Given the description of an element on the screen output the (x, y) to click on. 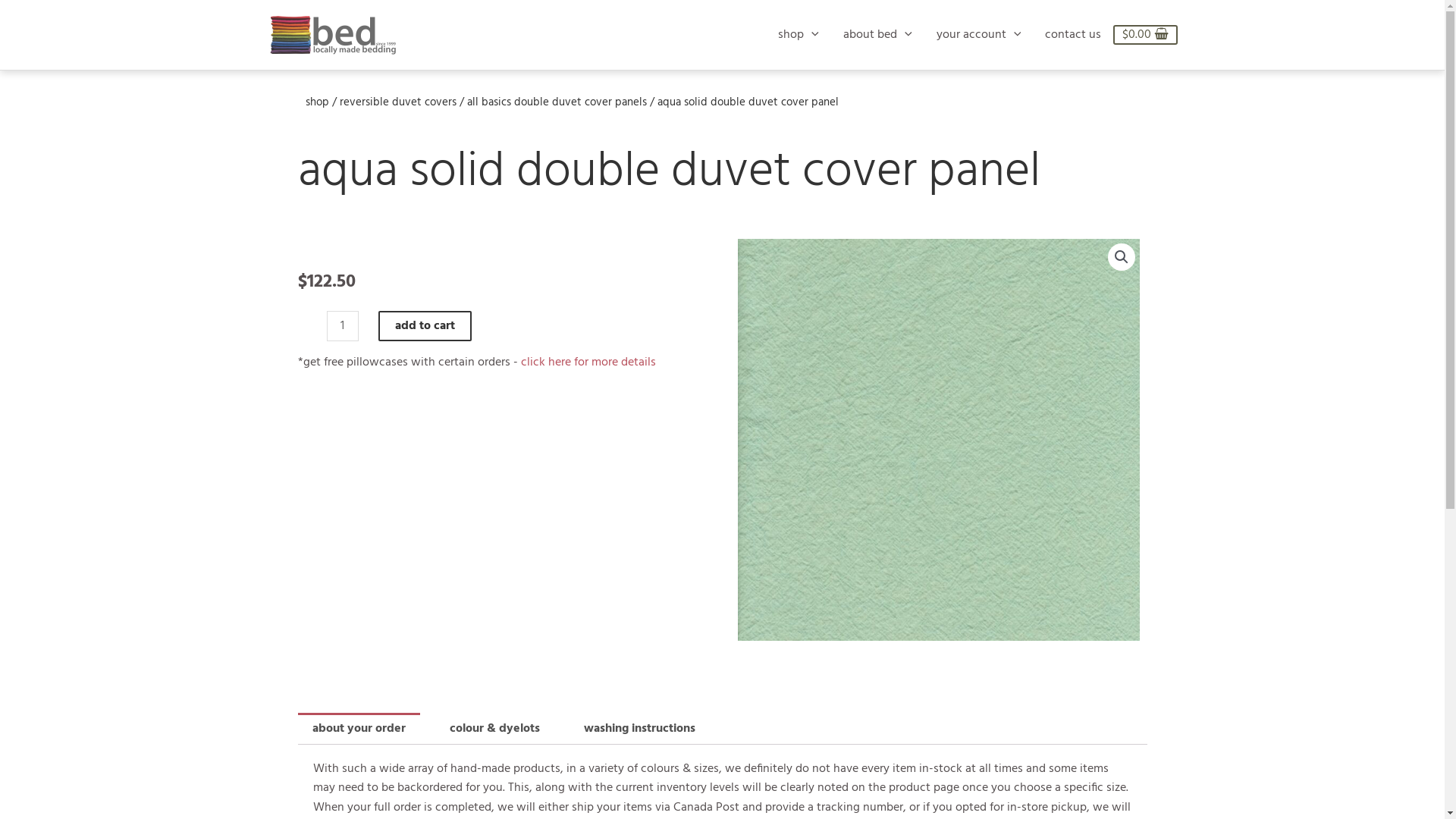
about bed Element type: text (877, 34)
reversible duvet covers Element type: text (397, 102)
about your order Element type: text (358, 728)
washing instructions Element type: text (639, 728)
colour & dyelots Element type: text (494, 728)
shop Element type: text (316, 102)
shop Element type: text (798, 34)
all basics double duvet cover panels Element type: text (556, 102)
$0.00 Element type: text (1144, 34)
click here for more details Element type: text (587, 362)
contact us Element type: text (1072, 34)
add to cart Element type: text (424, 325)
2021-aqua Element type: hover (938, 439)
your account Element type: text (978, 34)
